Given the description of an element on the screen output the (x, y) to click on. 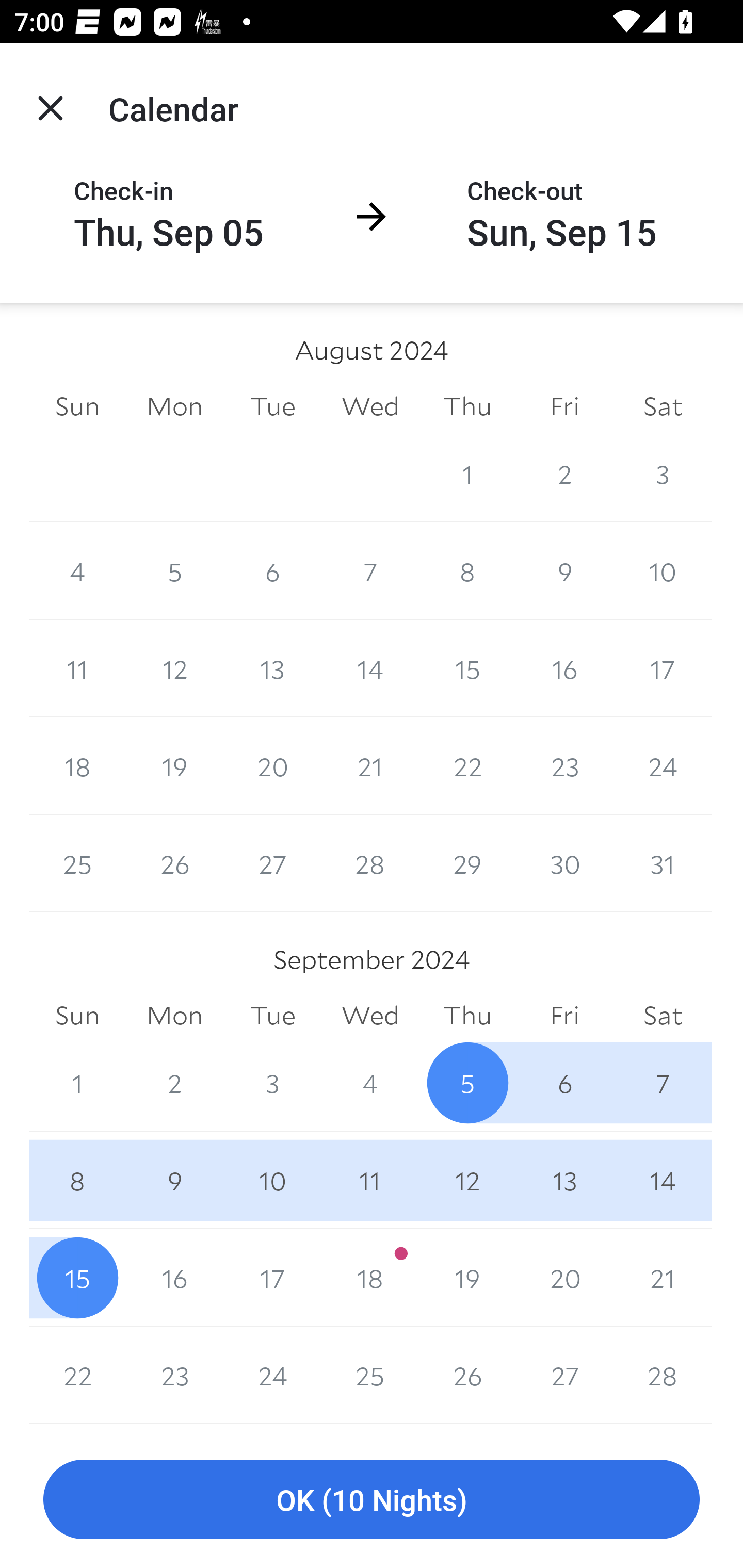
Sun (77, 405)
Mon (174, 405)
Tue (272, 405)
Wed (370, 405)
Thu (467, 405)
Fri (564, 405)
Sat (662, 405)
30 30 August 2024 (272, 473)
31 31 August 2024 (370, 473)
1 1 August 2024 (467, 473)
2 2 August 2024 (564, 473)
3 3 August 2024 (662, 473)
4 4 August 2024 (77, 570)
5 5 August 2024 (174, 570)
6 6 August 2024 (272, 570)
7 7 August 2024 (370, 570)
8 8 August 2024 (467, 570)
9 9 August 2024 (564, 570)
10 10 August 2024 (662, 570)
11 11 August 2024 (77, 668)
12 12 August 2024 (174, 668)
13 13 August 2024 (272, 668)
14 14 August 2024 (370, 668)
15 15 August 2024 (467, 668)
16 16 August 2024 (564, 668)
17 17 August 2024 (662, 668)
18 18 August 2024 (77, 766)
19 19 August 2024 (174, 766)
20 20 August 2024 (272, 766)
21 21 August 2024 (370, 766)
22 22 August 2024 (467, 766)
23 23 August 2024 (564, 766)
24 24 August 2024 (662, 766)
25 25 August 2024 (77, 863)
26 26 August 2024 (174, 863)
27 27 August 2024 (272, 863)
28 28 August 2024 (370, 863)
29 29 August 2024 (467, 863)
30 30 August 2024 (564, 863)
31 31 August 2024 (662, 863)
Sun (77, 1015)
Mon (174, 1015)
Tue (272, 1015)
Wed (370, 1015)
Thu (467, 1015)
Fri (564, 1015)
Sat (662, 1015)
1 1 September 2024 (77, 1083)
2 2 September 2024 (174, 1083)
